Given the description of an element on the screen output the (x, y) to click on. 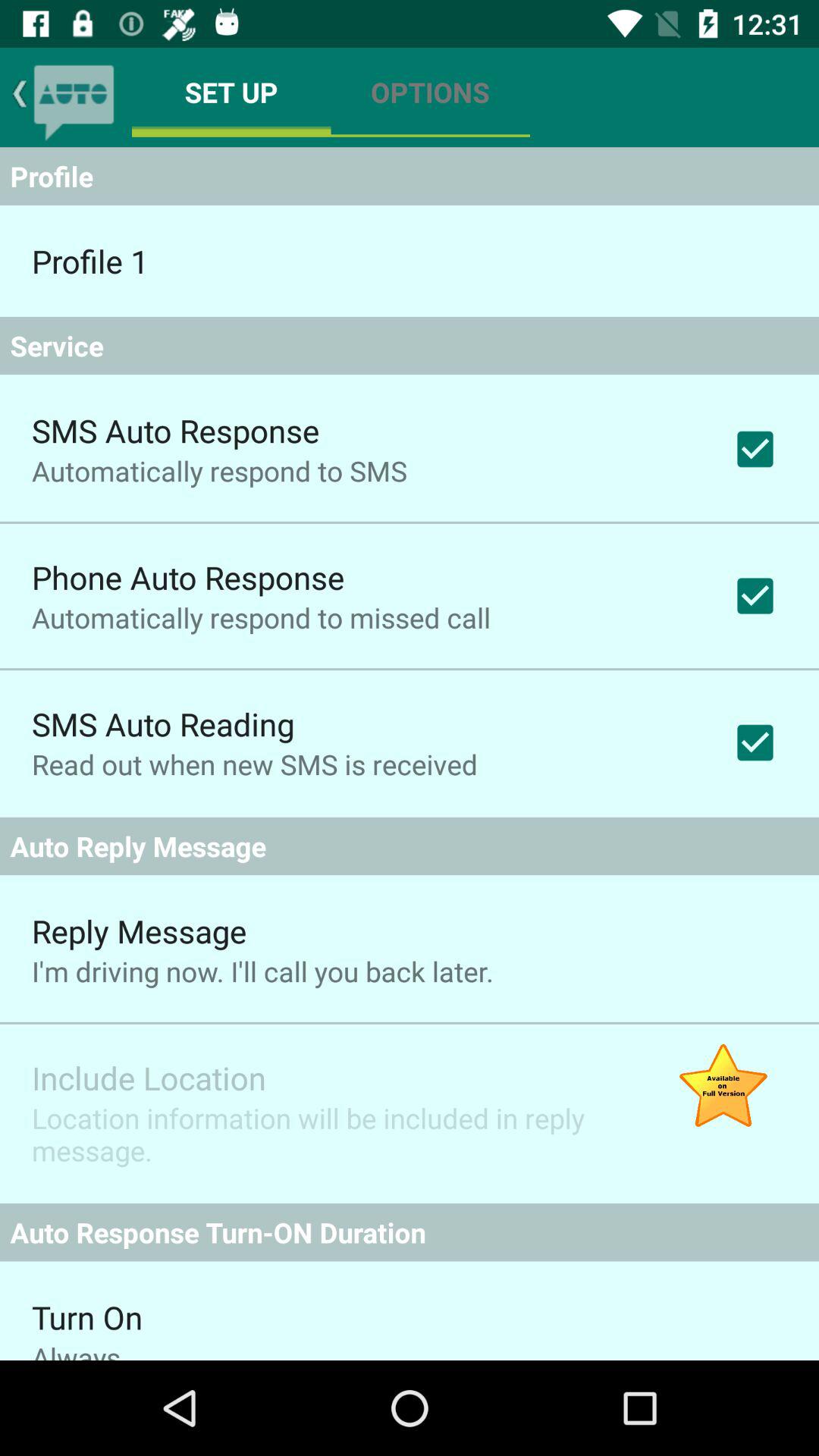
click the app below the turn on item (75, 1349)
